Given the description of an element on the screen output the (x, y) to click on. 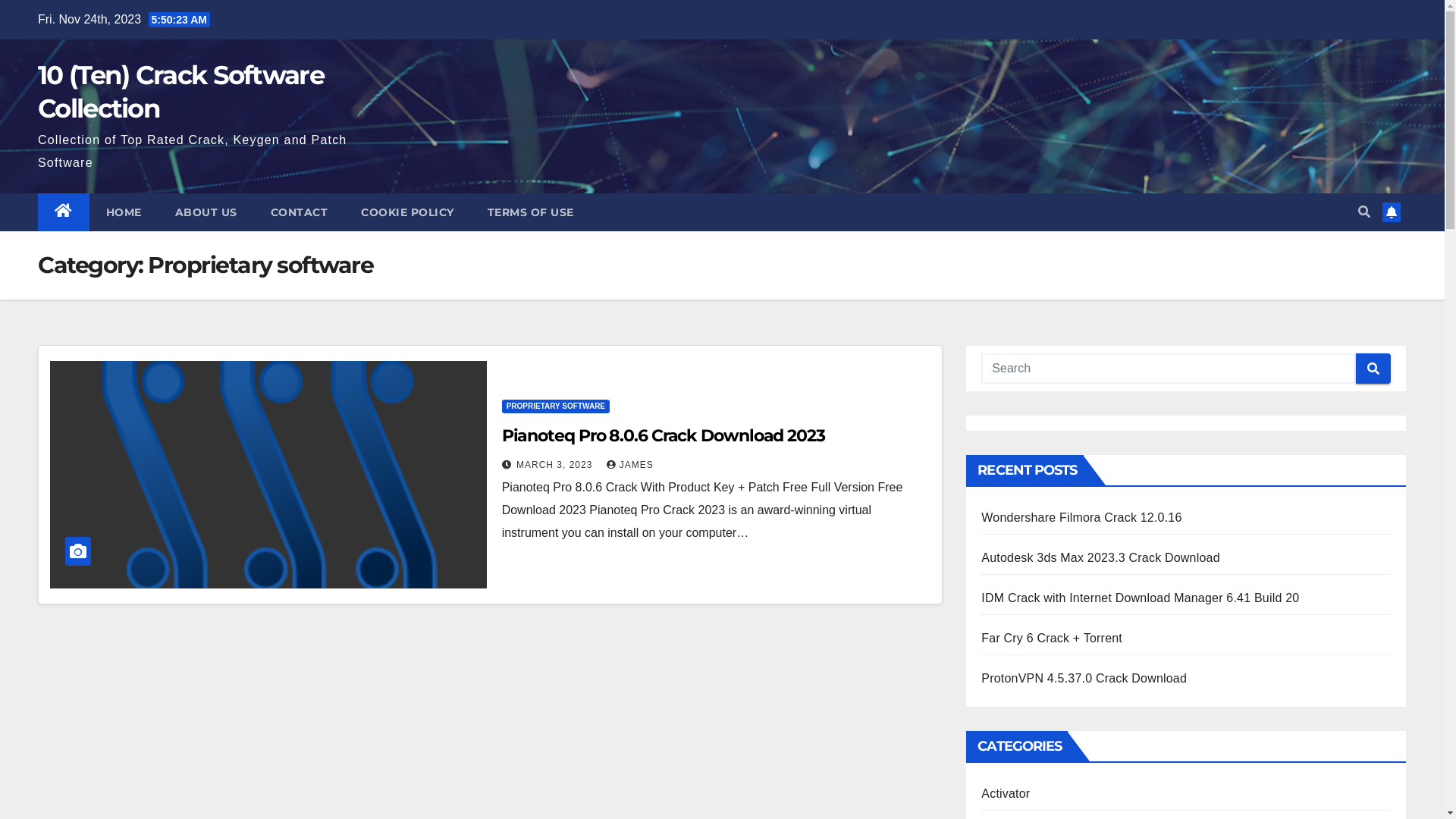
Wondershare Filmora Crack 12.0.16 Element type: text (1081, 517)
Pianoteq Pro 8.0.6 Crack Download 2023 Element type: text (663, 435)
ProtonVPN 4.5.37.0 Crack Download Element type: text (1083, 677)
JAMES Element type: text (629, 464)
IDM Crack with Internet Download Manager 6.41 Build 20 Element type: text (1140, 597)
Activator Element type: text (1005, 793)
COOKIE POLICY Element type: text (407, 212)
Autodesk 3ds Max 2023.3 Crack Download Element type: text (1100, 557)
CONTACT Element type: text (298, 212)
TERMS OF USE Element type: text (529, 212)
HOME Element type: text (123, 212)
Far Cry 6 Crack + Torrent Element type: text (1051, 637)
10 (Ten) Crack Software Collection Element type: text (180, 91)
ABOUT US Element type: text (205, 212)
PROPRIETARY SOFTWARE Element type: text (555, 406)
MARCH 3, 2023 Element type: text (556, 464)
